Given the description of an element on the screen output the (x, y) to click on. 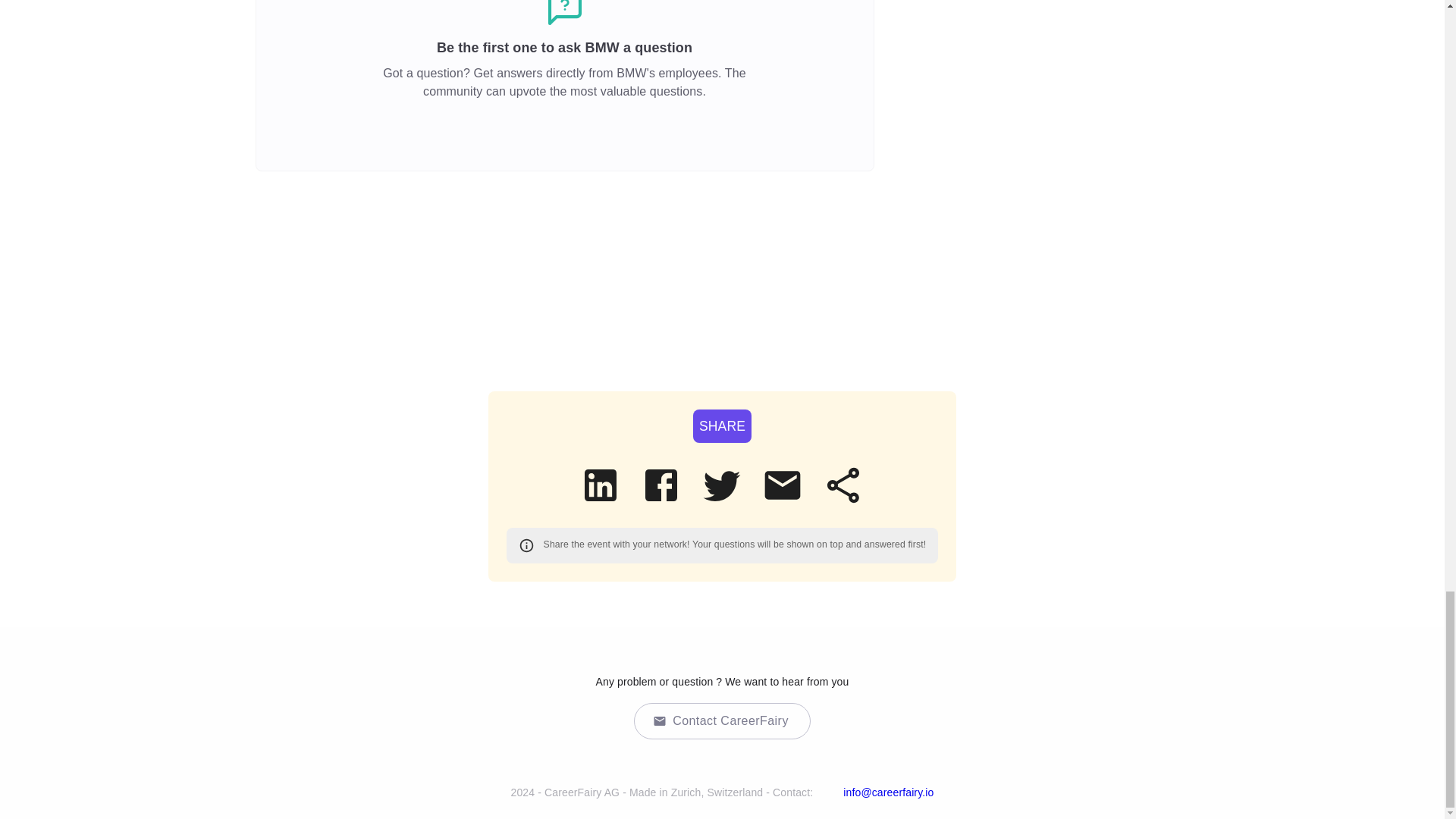
Contact CareerFairy (721, 720)
